Given the description of an element on the screen output the (x, y) to click on. 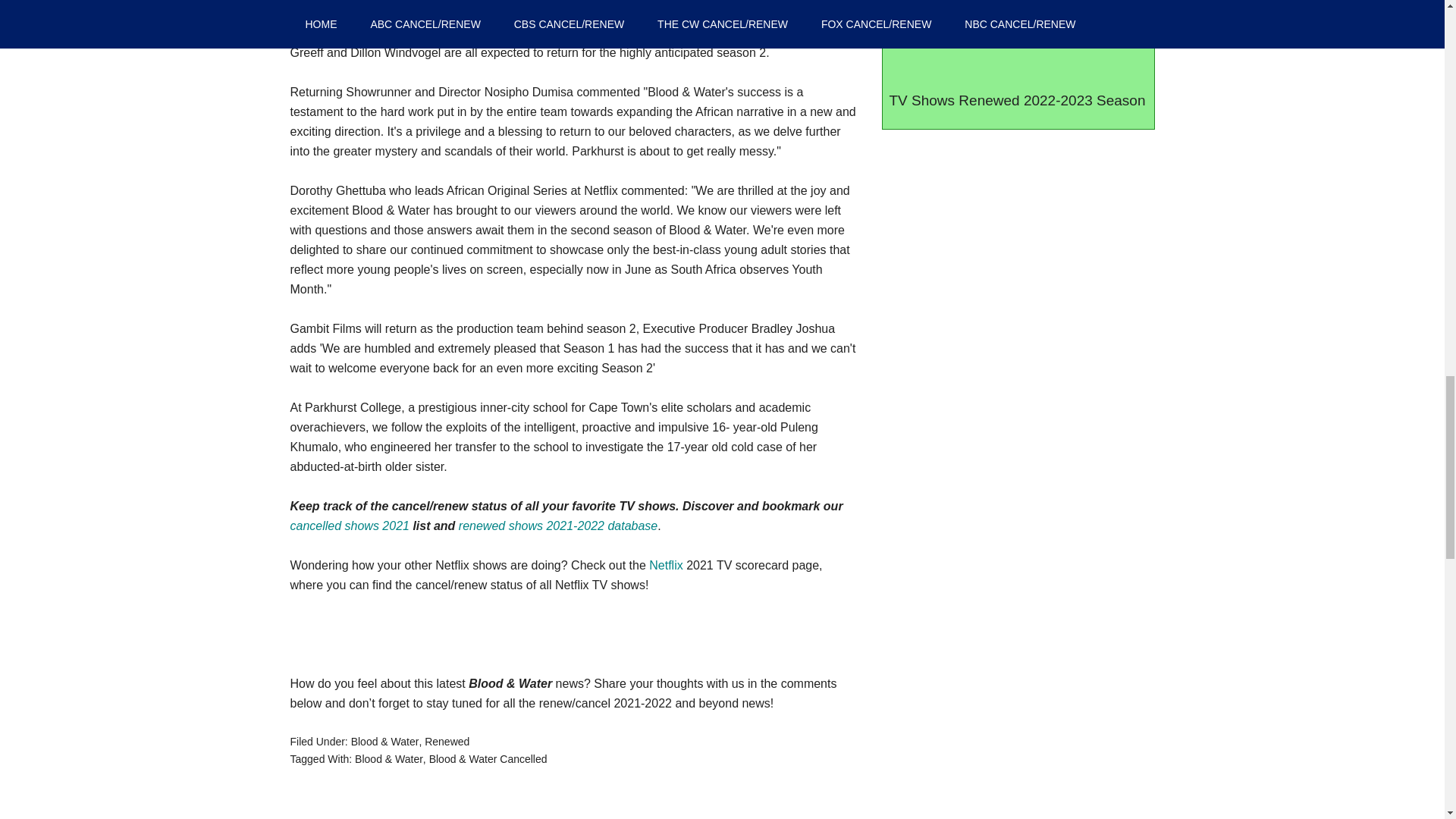
Renewed (446, 741)
Netflix (665, 564)
renewed shows 2021-2022 database (558, 525)
cancelled shows 2021 (349, 525)
